Given the description of an element on the screen output the (x, y) to click on. 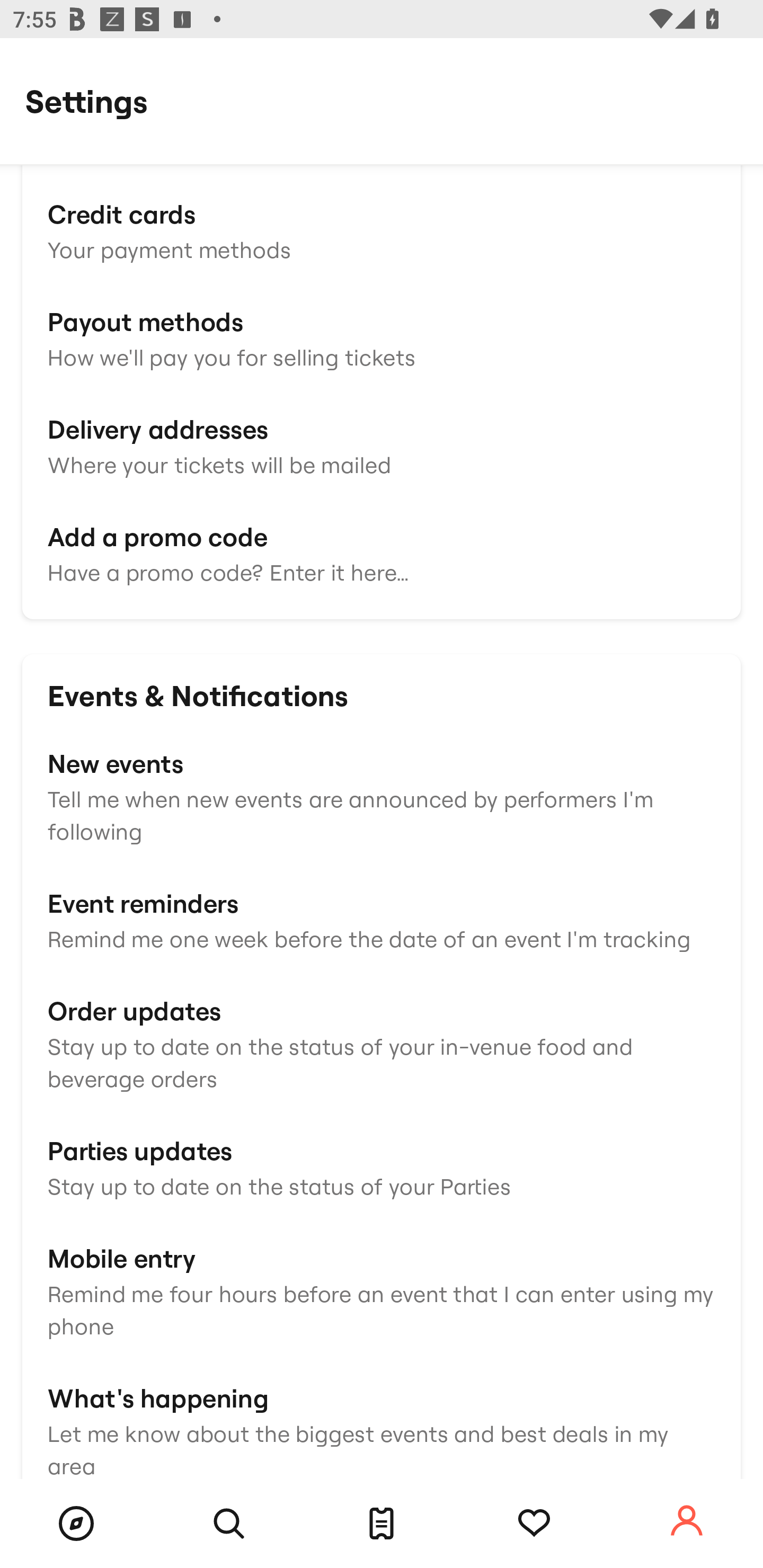
Credit cards Your payment methods (381, 229)
Add a promo code Have a promo code? Enter it here… (381, 552)
Browse (76, 1523)
Search (228, 1523)
Tickets (381, 1523)
Tracking (533, 1523)
Account (686, 1521)
